Given the description of an element on the screen output the (x, y) to click on. 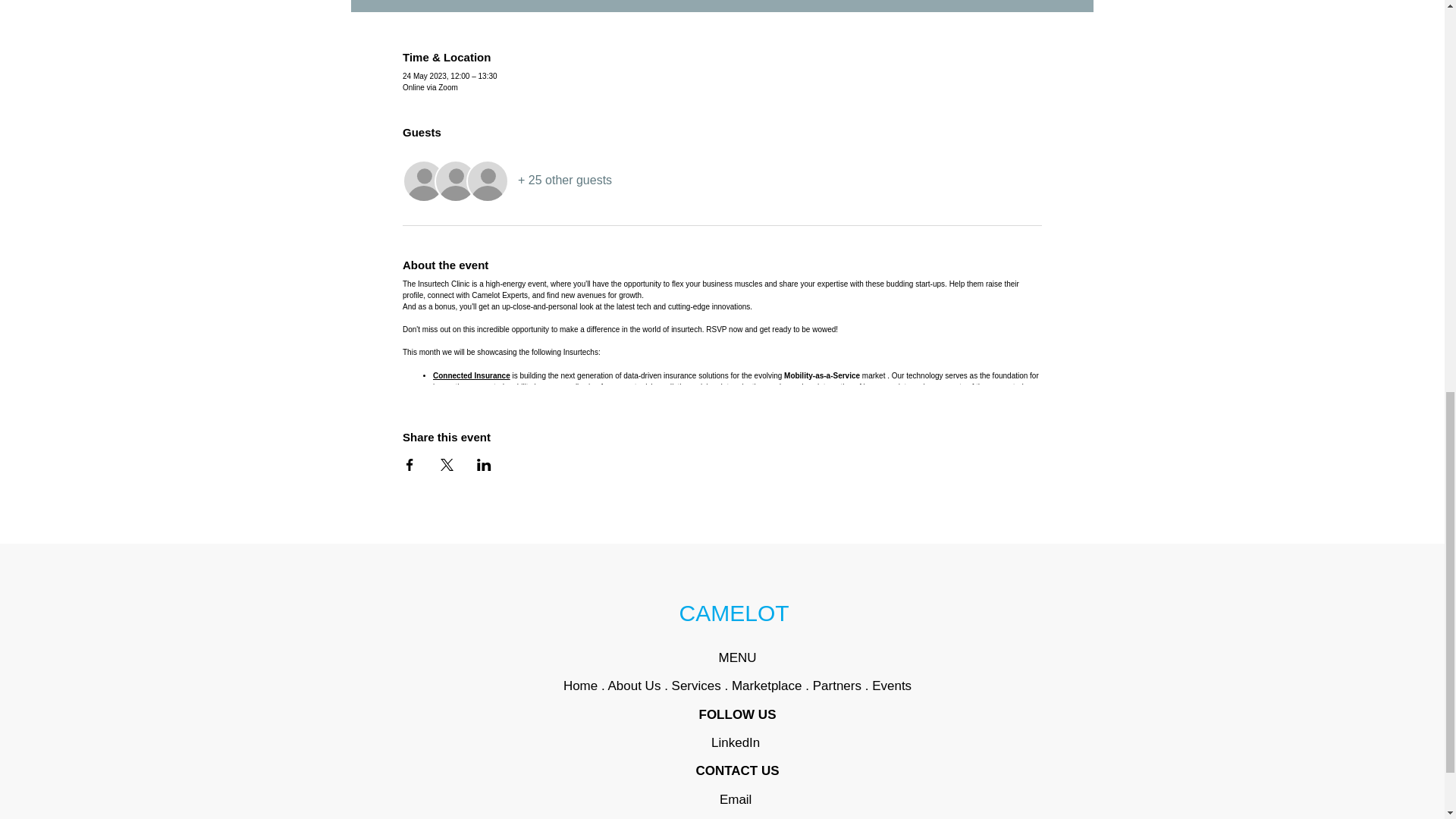
Email  (737, 799)
Partners (836, 685)
LinkedIn (735, 742)
Marketplace (767, 685)
Events (891, 685)
Services (695, 685)
About Us (634, 685)
Home (582, 685)
